Given the description of an element on the screen output the (x, y) to click on. 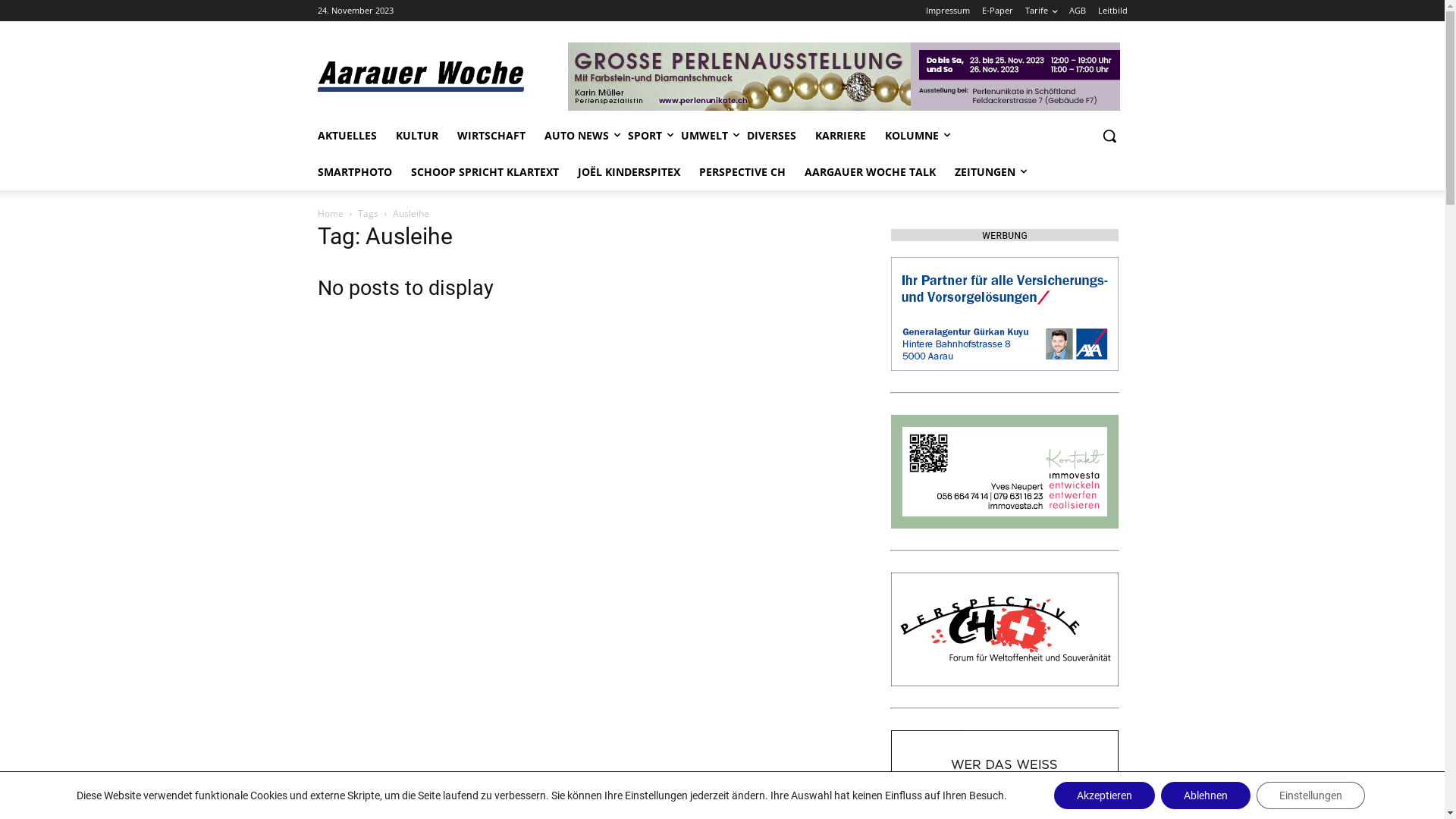
Tarife Element type: text (1041, 10)
AKTUELLES Element type: text (346, 135)
Ablehnen Element type: text (1205, 795)
SMARTPHOTO Element type: text (353, 171)
SPORT Element type: text (644, 135)
UMWELT Element type: text (704, 135)
AGB Element type: text (1077, 10)
WIRTSCHAFT Element type: text (490, 135)
Akzeptieren Element type: text (1104, 795)
Einstellungen Element type: text (1310, 795)
Impressum Element type: text (947, 10)
Home Element type: text (329, 213)
AUTO NEWS Element type: text (576, 135)
PERSPECTIVE CH Element type: hover (1003, 629)
Hohliebi Element type: hover (1003, 471)
ZEITUNGEN Element type: text (983, 171)
DIVERSES Element type: text (770, 135)
SCHOOP SPRICHT KLARTEXT Element type: text (484, 171)
AARGAUER WOCHE TALK Element type: text (869, 171)
E-Paper Element type: text (996, 10)
Leitbild Element type: text (1112, 10)
AXA Element type: hover (1003, 313)
KULTUR Element type: text (416, 135)
Grosse Perlenausstellung Element type: hover (843, 76)
PERSPECTIVE CH Element type: text (742, 171)
KARRIERE Element type: text (839, 135)
KOLUMNE Element type: text (911, 135)
